Given the description of an element on the screen output the (x, y) to click on. 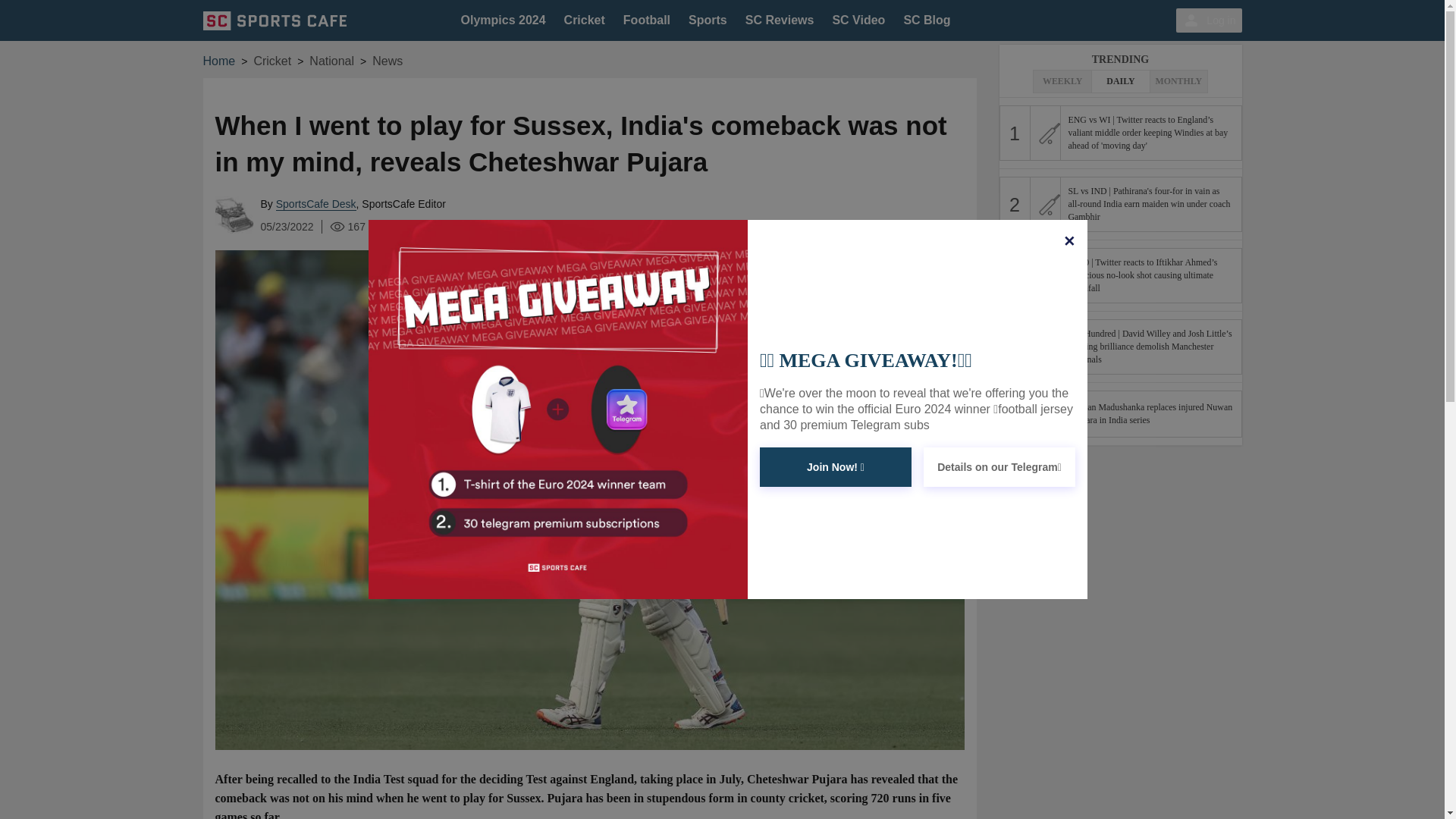
Cricket (584, 19)
Sports (707, 19)
Olympics 2024 (503, 19)
Football (646, 19)
